Given the description of an element on the screen output the (x, y) to click on. 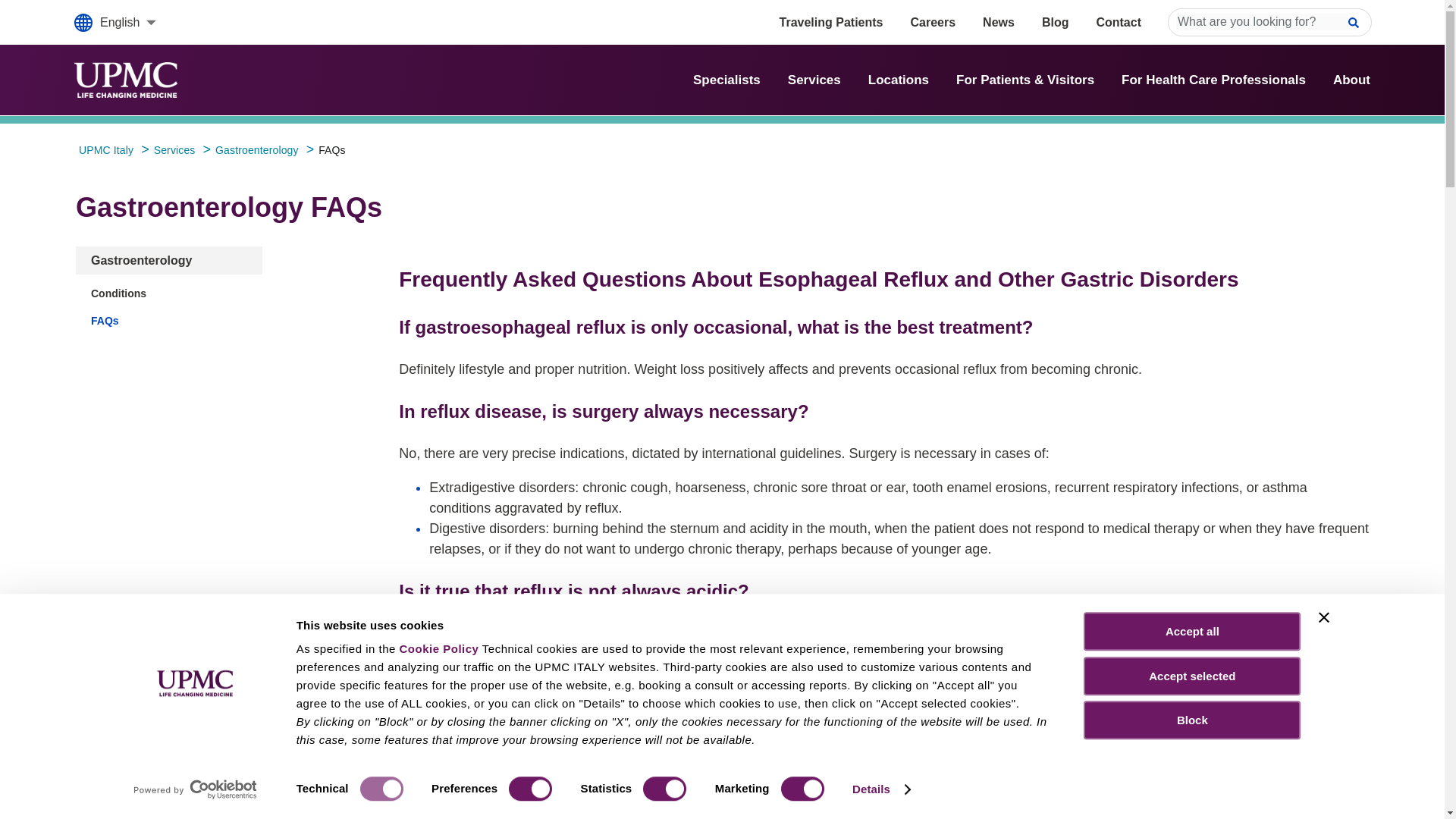
Cookie Policy (438, 648)
Details (879, 789)
